Given the description of an element on the screen output the (x, y) to click on. 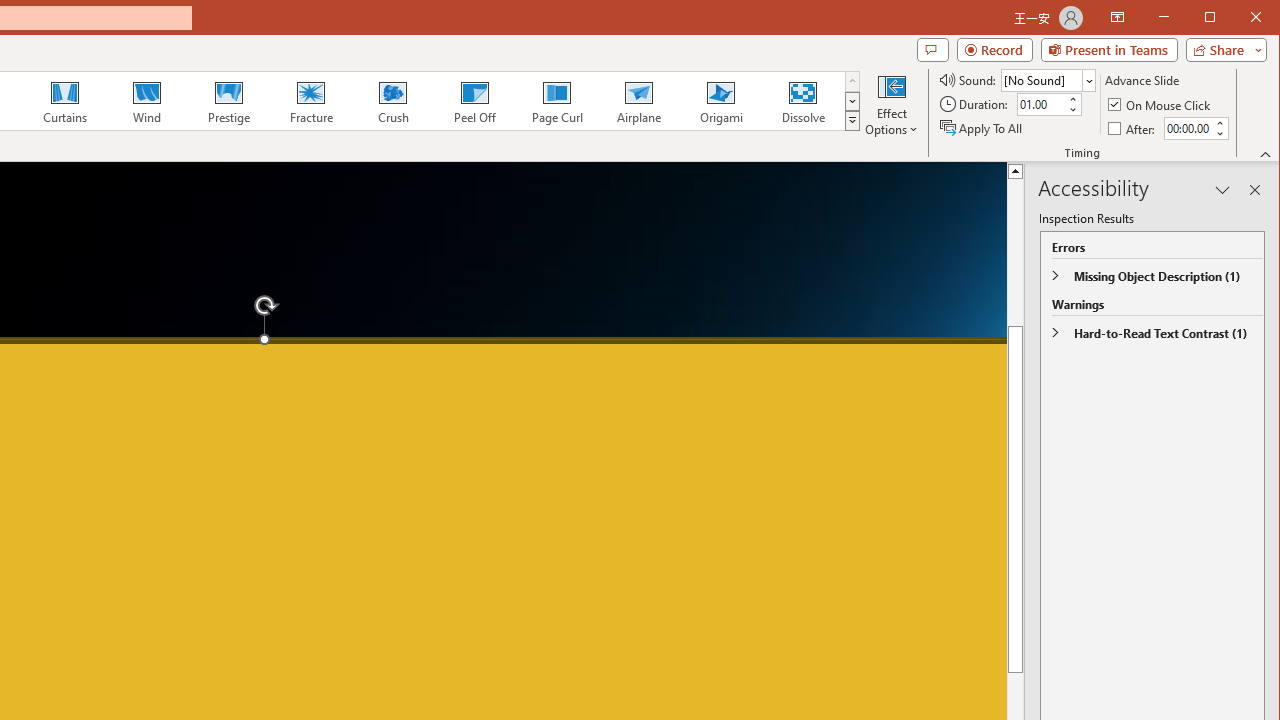
Wind (147, 100)
More (1218, 123)
After (1133, 127)
Dissolve (802, 100)
Origami (720, 100)
Transition Effects (852, 120)
Sound (1047, 80)
